Given the description of an element on the screen output the (x, y) to click on. 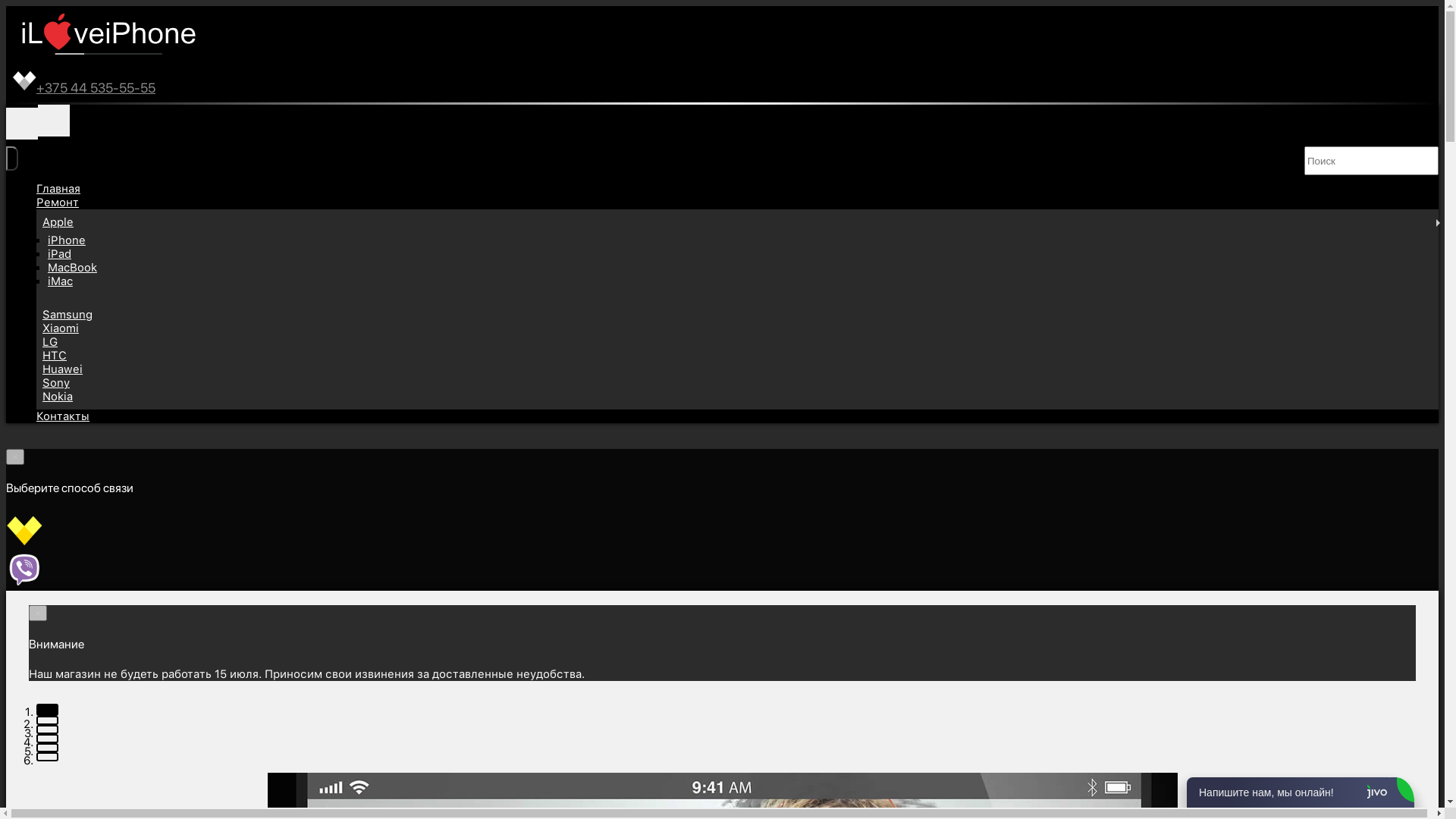
Sony Element type: text (55, 382)
iPad Element type: text (59, 253)
LG Element type: text (49, 341)
Samsung Element type: text (67, 314)
Huawei Element type: text (62, 369)
Xiaomi Element type: text (60, 328)
HTC Element type: text (54, 355)
iPhone Element type: text (66, 240)
+375 44 535-55-55 Element type: text (722, 83)
Nokia Element type: text (57, 396)
Apple Element type: text (57, 222)
iMac Element type: text (59, 281)
MacBook Element type: text (72, 267)
